Given the description of an element on the screen output the (x, y) to click on. 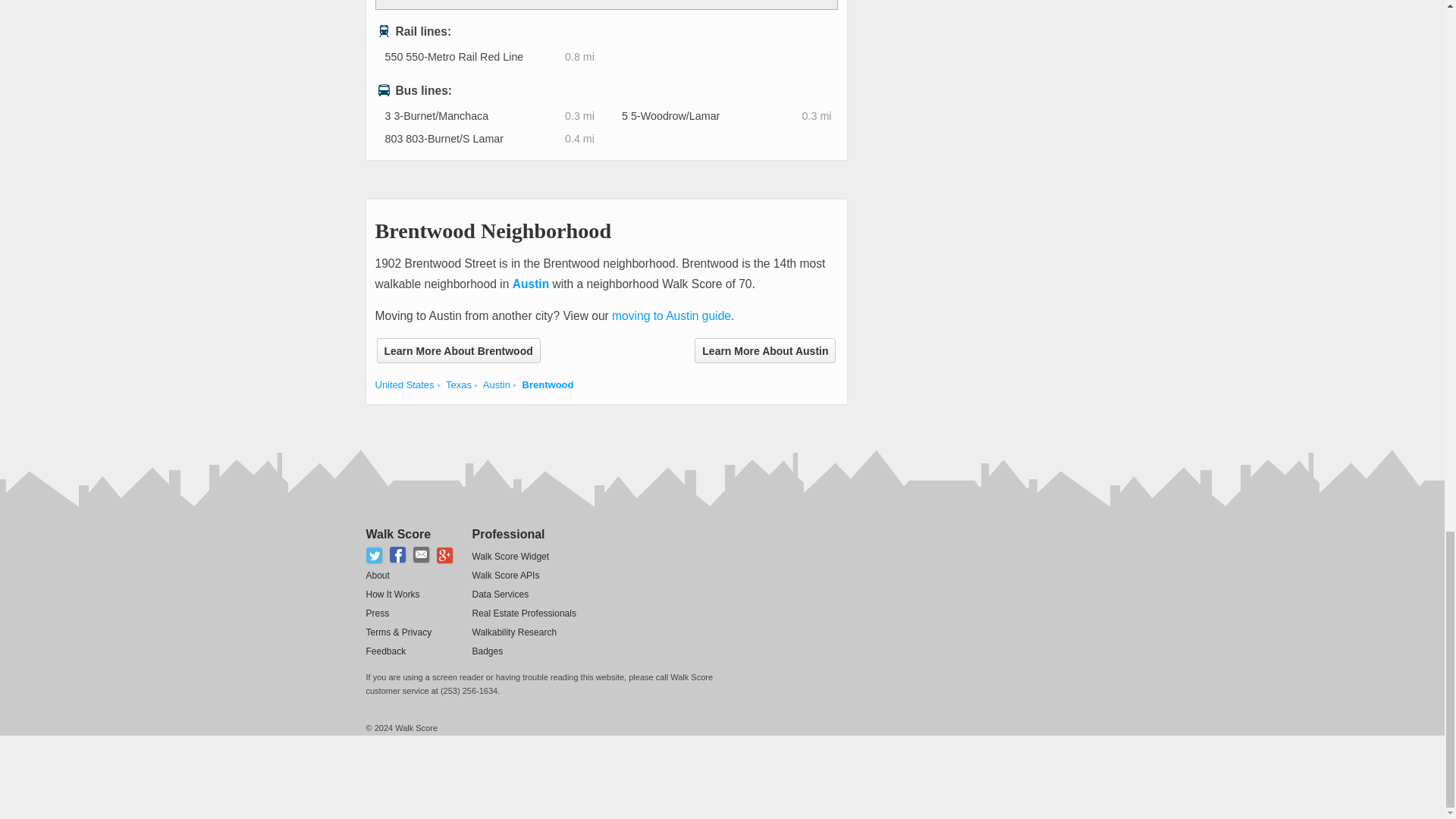
Learn More About Austin (764, 350)
Austin (531, 283)
United States Walkability Rankings (403, 384)
United States (403, 384)
Learn More About Brentwood (457, 350)
moving to Austin guide (670, 315)
Cities in Texas state (458, 384)
